Given the description of an element on the screen output the (x, y) to click on. 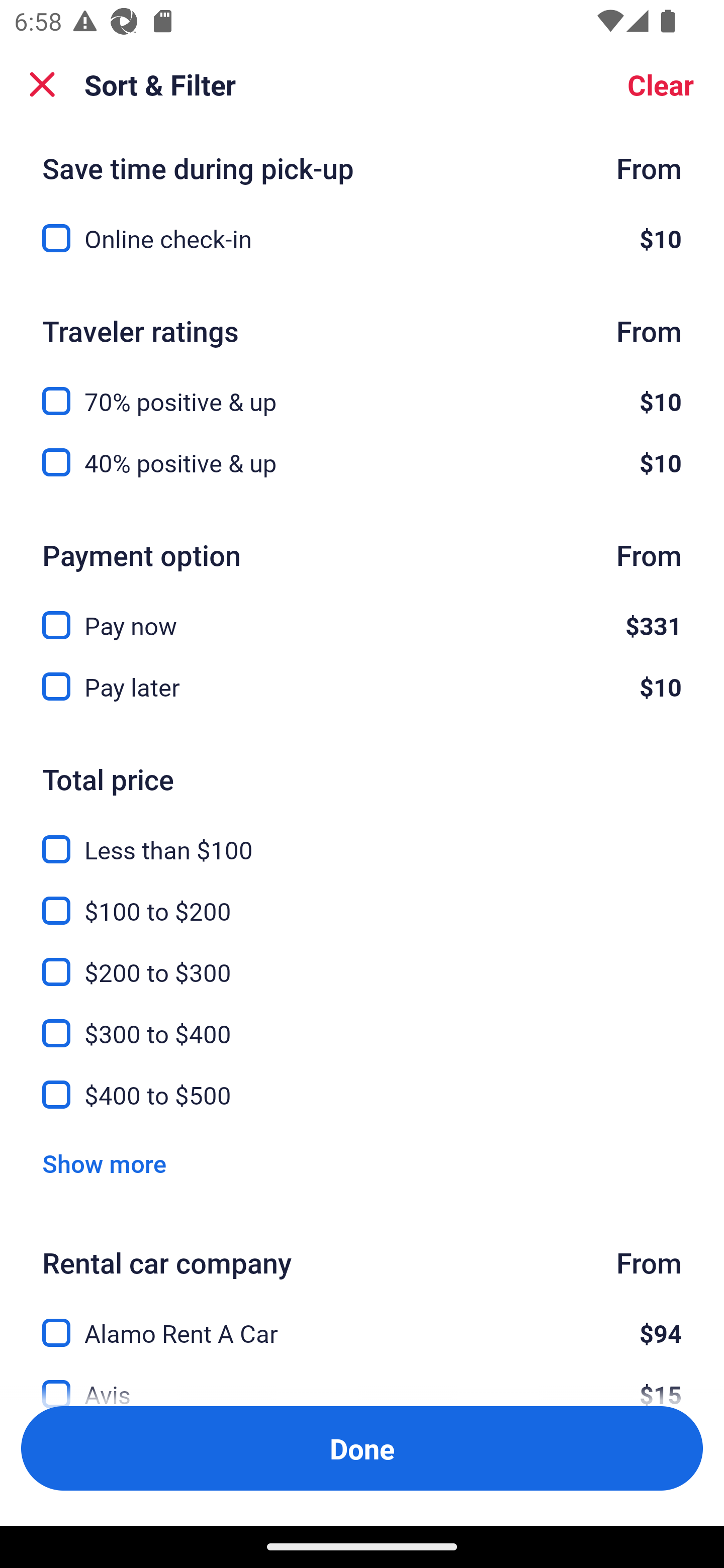
Close Sort and Filter (42, 84)
Clear (660, 84)
Online check-in, $10 Online check-in $10 (361, 238)
70% positive & up, $10 70% positive & up $10 (361, 389)
40% positive & up, $10 40% positive & up $10 (361, 462)
Pay now, $331 Pay now $331 (361, 613)
Pay later, $10 Pay later $10 (361, 686)
Less than $100, Less than $100 (361, 837)
$100 to $200, $100 to $200 (361, 898)
$200 to $300, $200 to $300 (361, 959)
$300 to $400, $300 to $400 (361, 1021)
$400 to $500, $400 to $500 (361, 1094)
Show more Show more Link (103, 1163)
Alamo Rent A Car, $94 Alamo Rent A Car $94 (361, 1320)
Apply and close Sort and Filter Done (361, 1448)
